Given the description of an element on the screen output the (x, y) to click on. 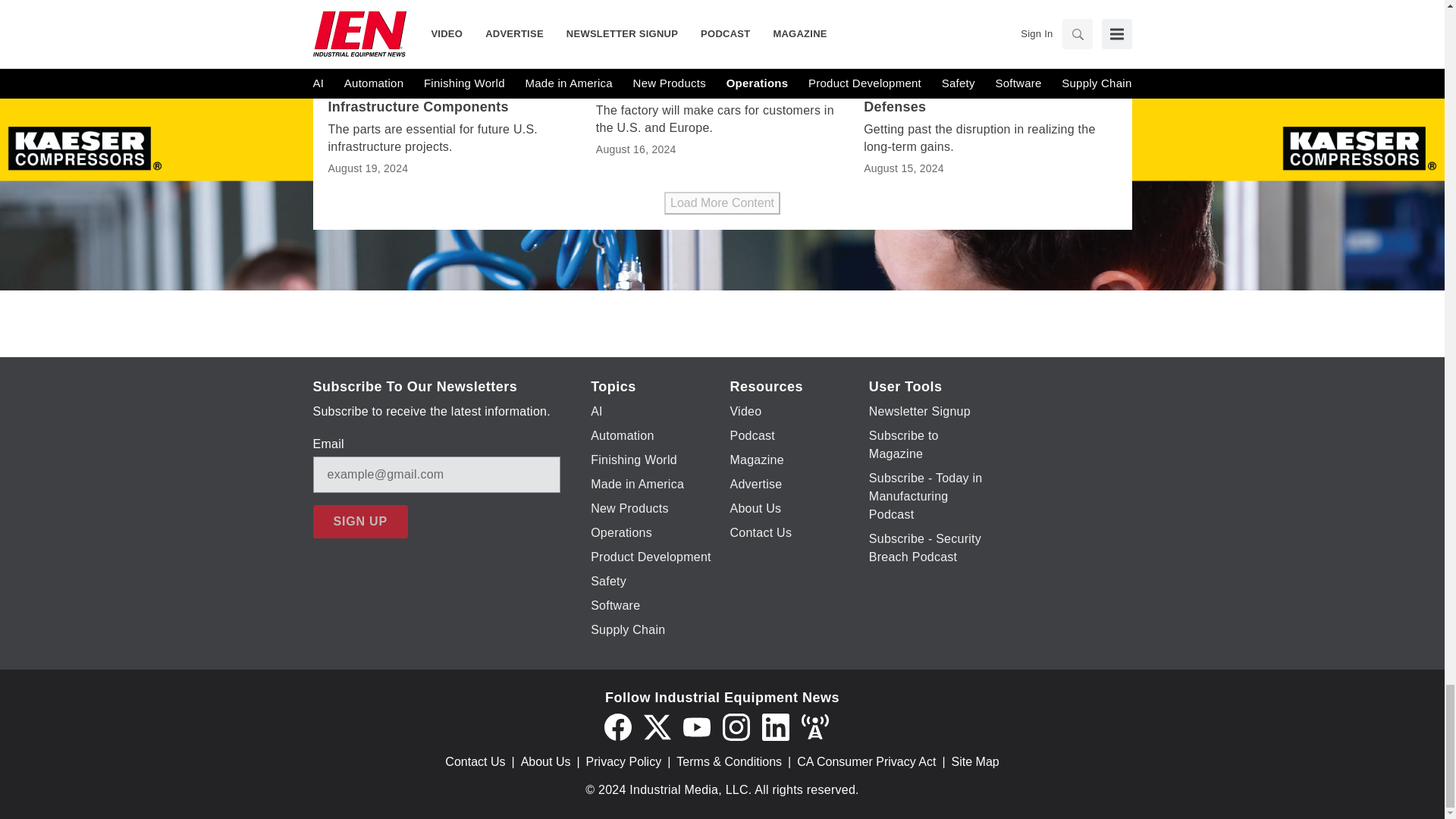
Twitter X icon (656, 727)
LinkedIn icon (775, 727)
Facebook icon (617, 727)
YouTube icon (696, 727)
Instagram icon (735, 727)
